Given the description of an element on the screen output the (x, y) to click on. 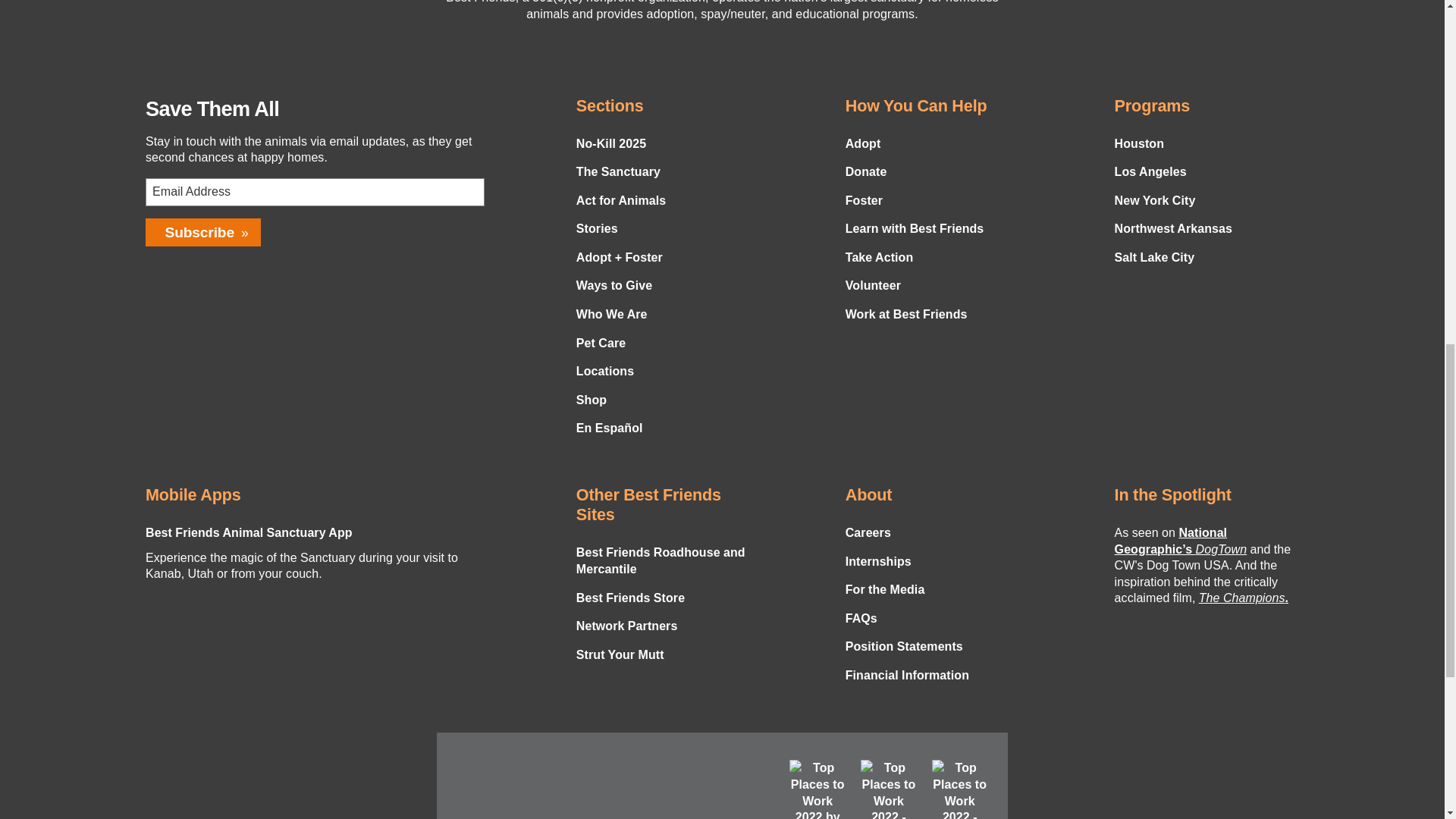
Subscribe (202, 232)
Subscribe (202, 232)
